Given the description of an element on the screen output the (x, y) to click on. 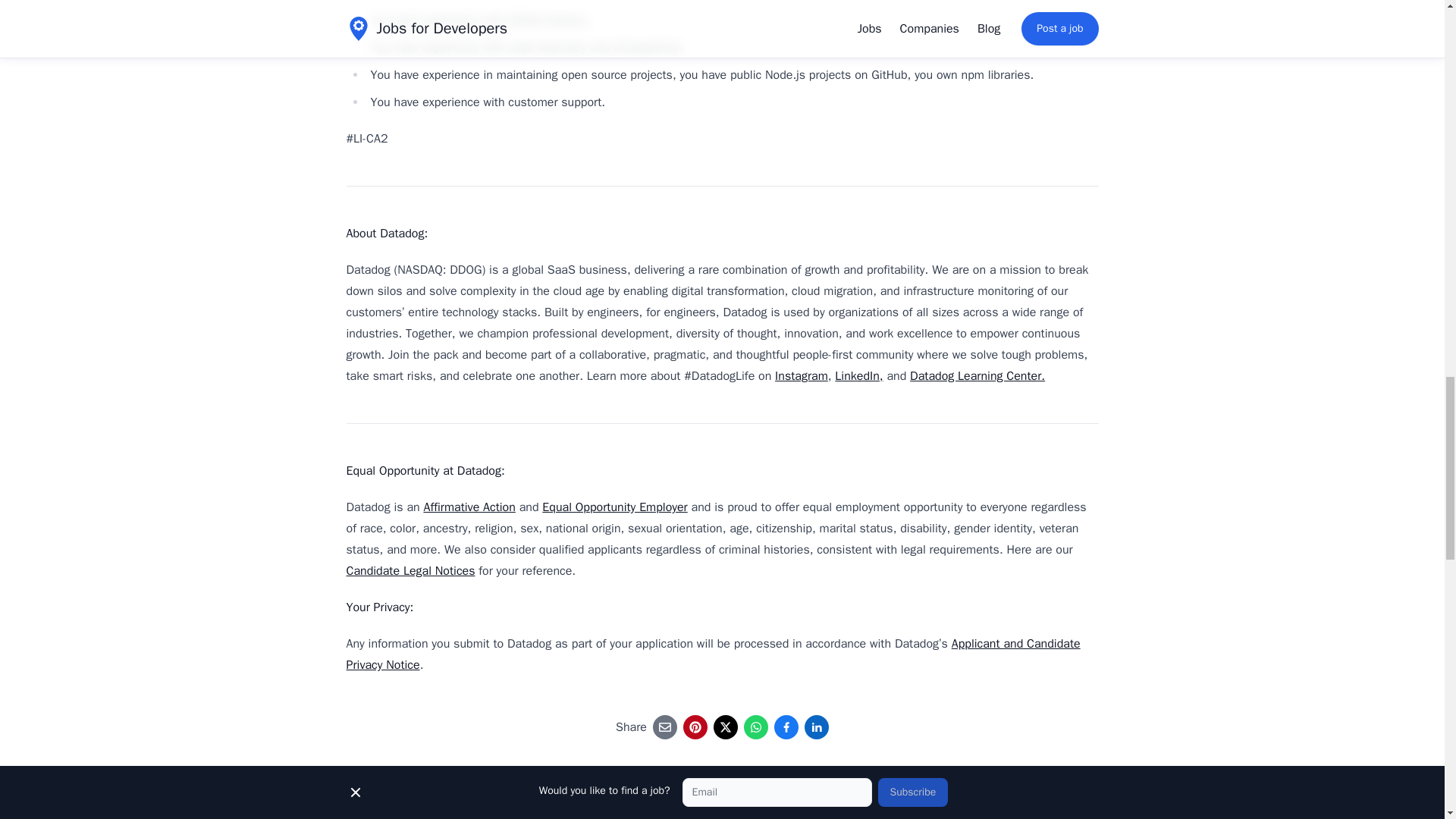
Datadog Learning Center. (977, 376)
Share on Pinterest (694, 726)
share via email (664, 726)
Share on Facebook (785, 726)
Instagram (801, 376)
Applicant and Candidate Privacy Notice (713, 654)
Share via WhatsApp (756, 726)
Equal Opportunity Employer (614, 507)
Affirmative Action (469, 507)
Share on X (725, 726)
